Given the description of an element on the screen output the (x, y) to click on. 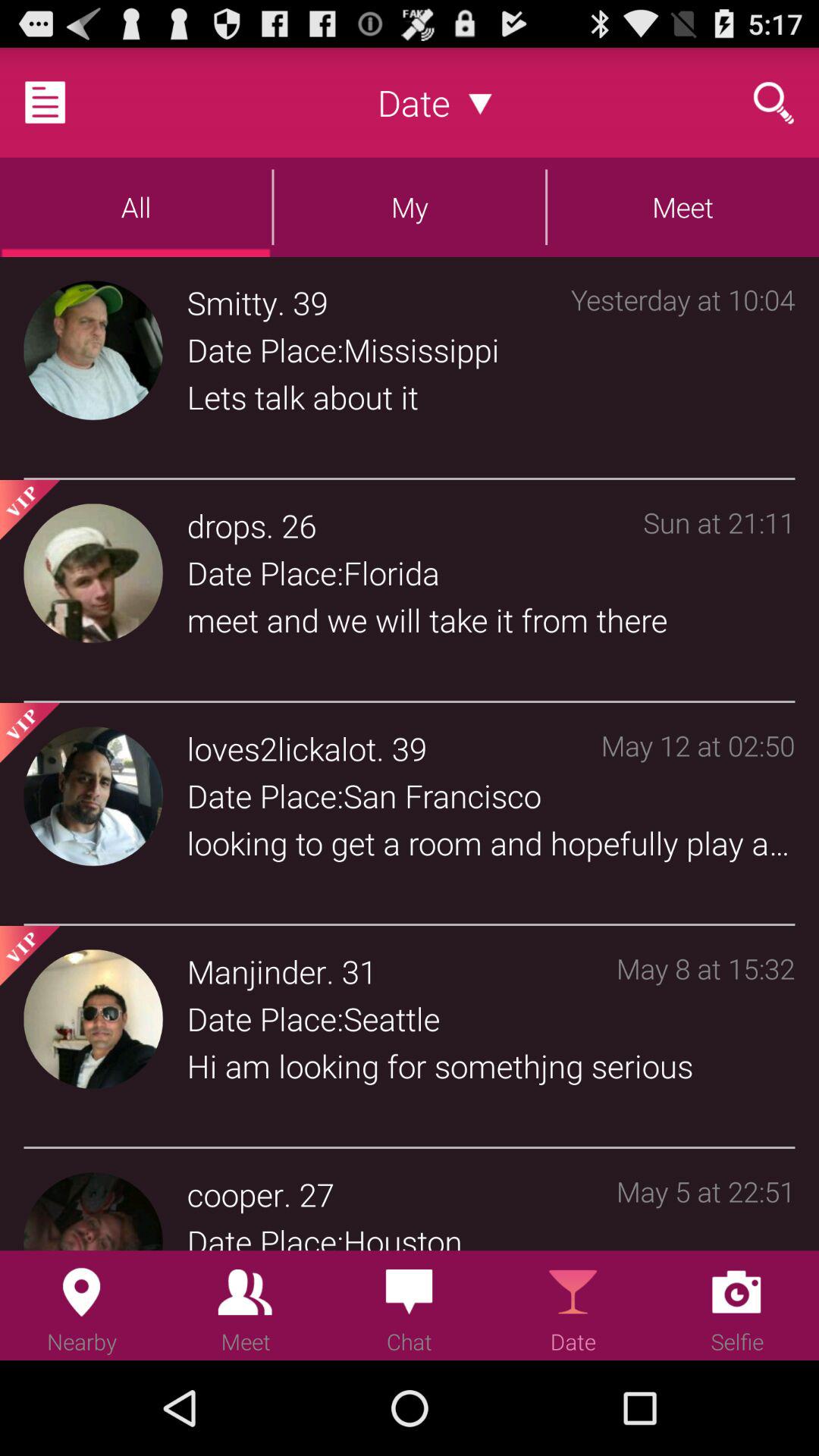
flip to the cooper (235, 1193)
